Given the description of an element on the screen output the (x, y) to click on. 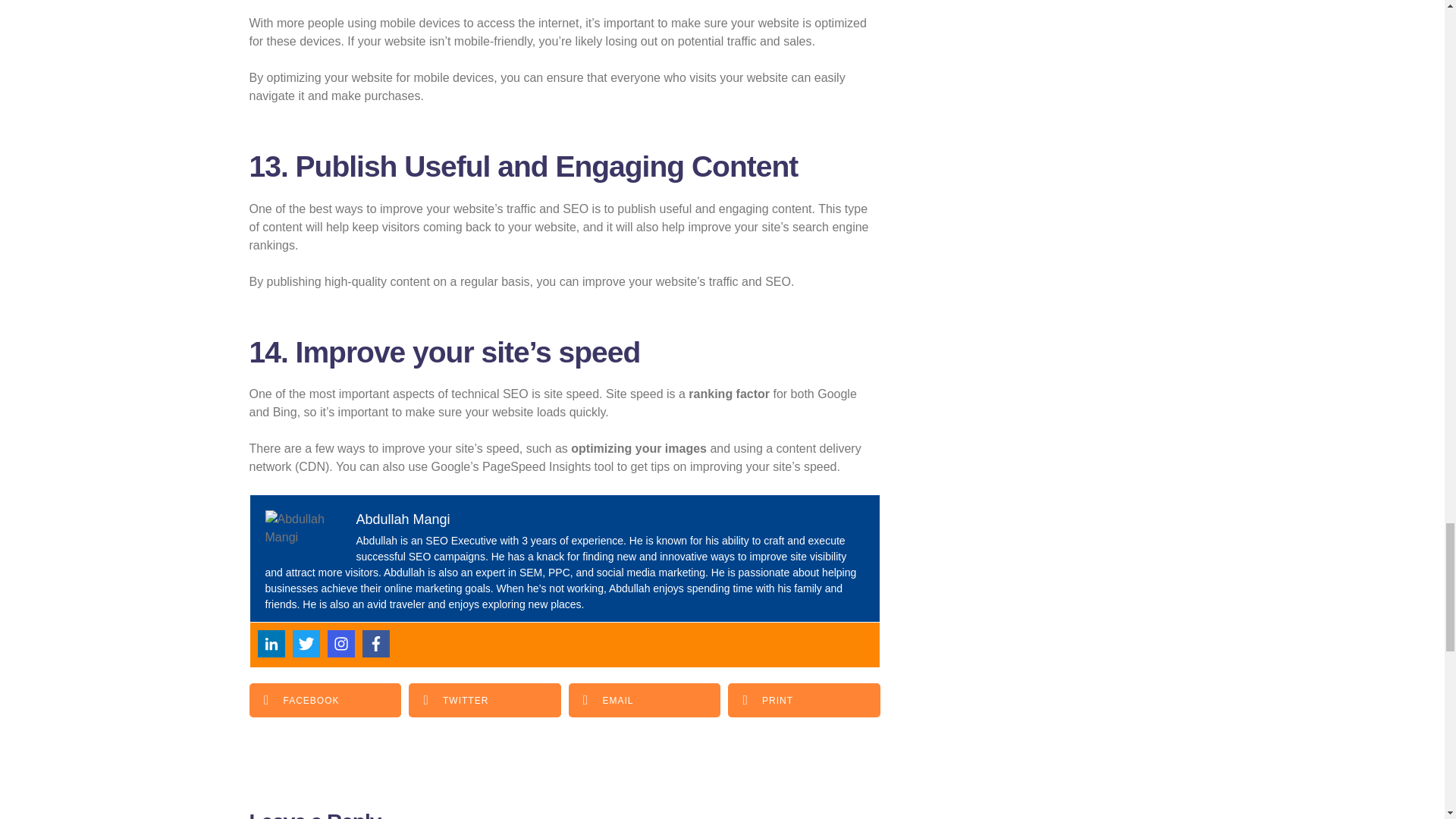
Instagram (341, 643)
Abdullah Mangi (402, 519)
Linkedin (271, 643)
Twitter (306, 643)
ranking factor (729, 393)
Facebook (376, 643)
